Given the description of an element on the screen output the (x, y) to click on. 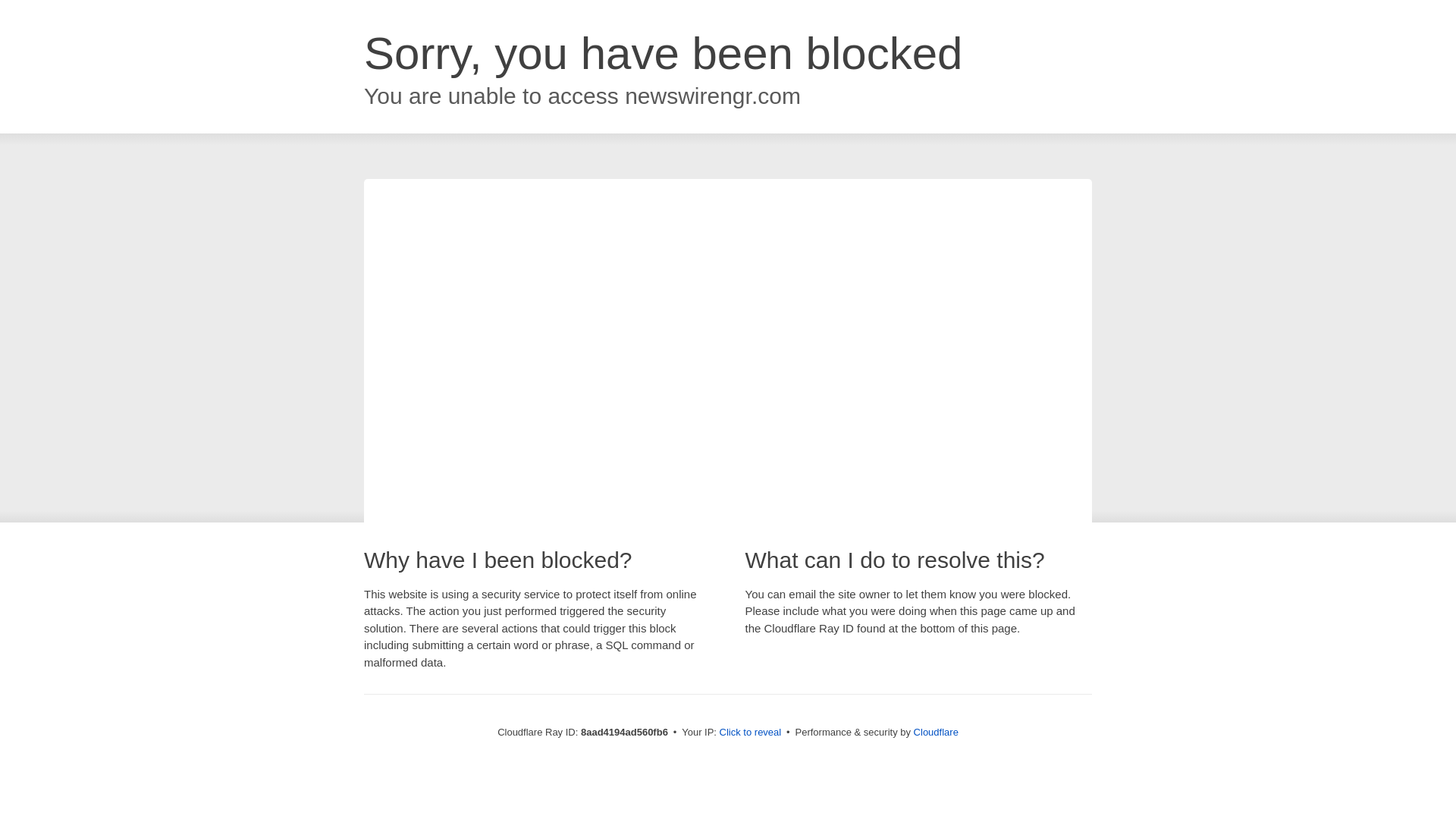
Click to reveal (750, 732)
Cloudflare (936, 731)
